Given the description of an element on the screen output the (x, y) to click on. 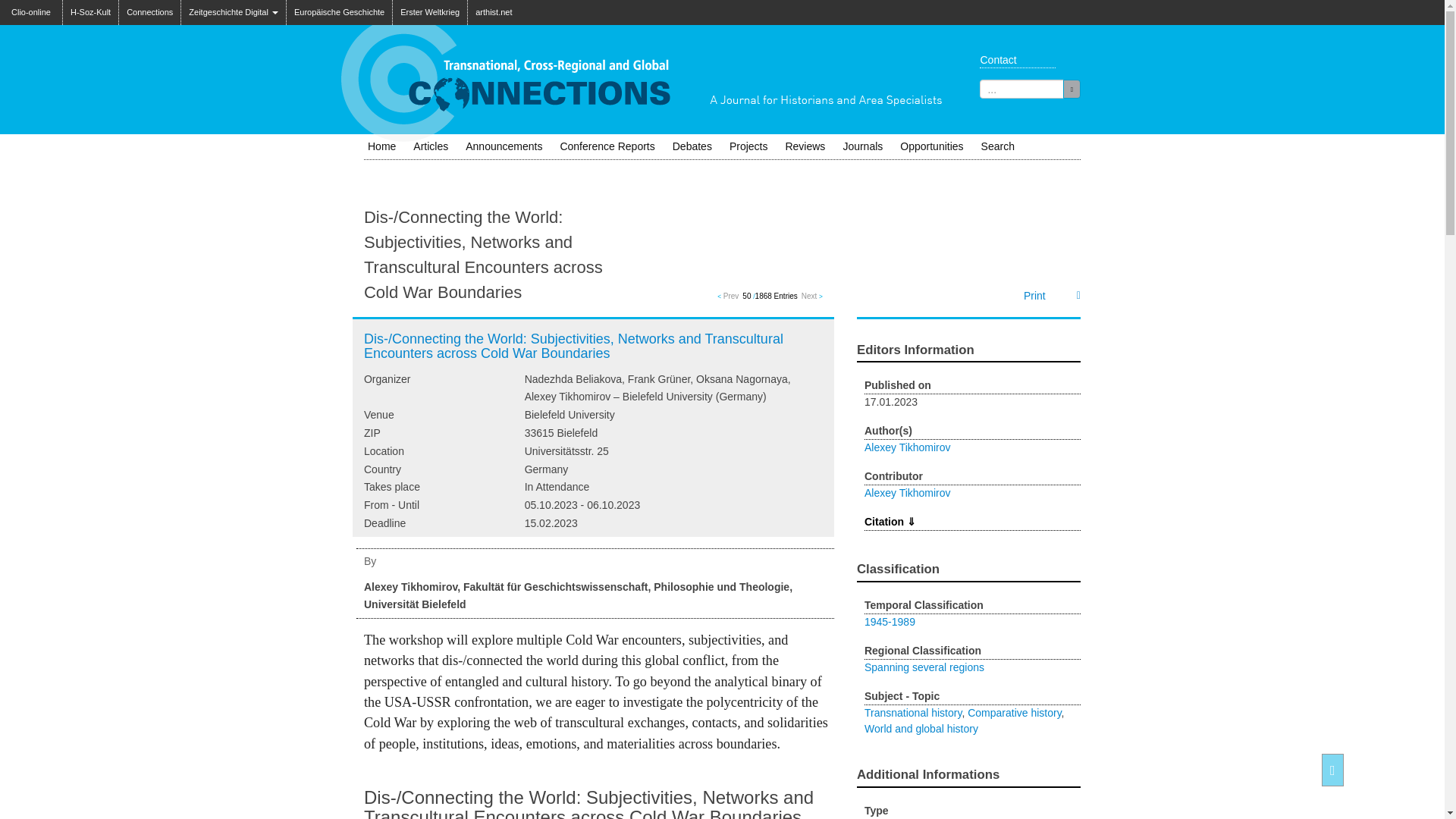
Scroll to top (1332, 769)
Home (381, 146)
Debates (692, 146)
Search (1071, 88)
Projects (749, 146)
Opportunities (931, 146)
Reviews (804, 146)
Clio-online (31, 7)
Announcements (504, 146)
Contact (1013, 59)
H-Soz-Kult (89, 12)
arthist.net (493, 12)
Erster Weltkrieg (430, 12)
Search (998, 146)
